Given the description of an element on the screen output the (x, y) to click on. 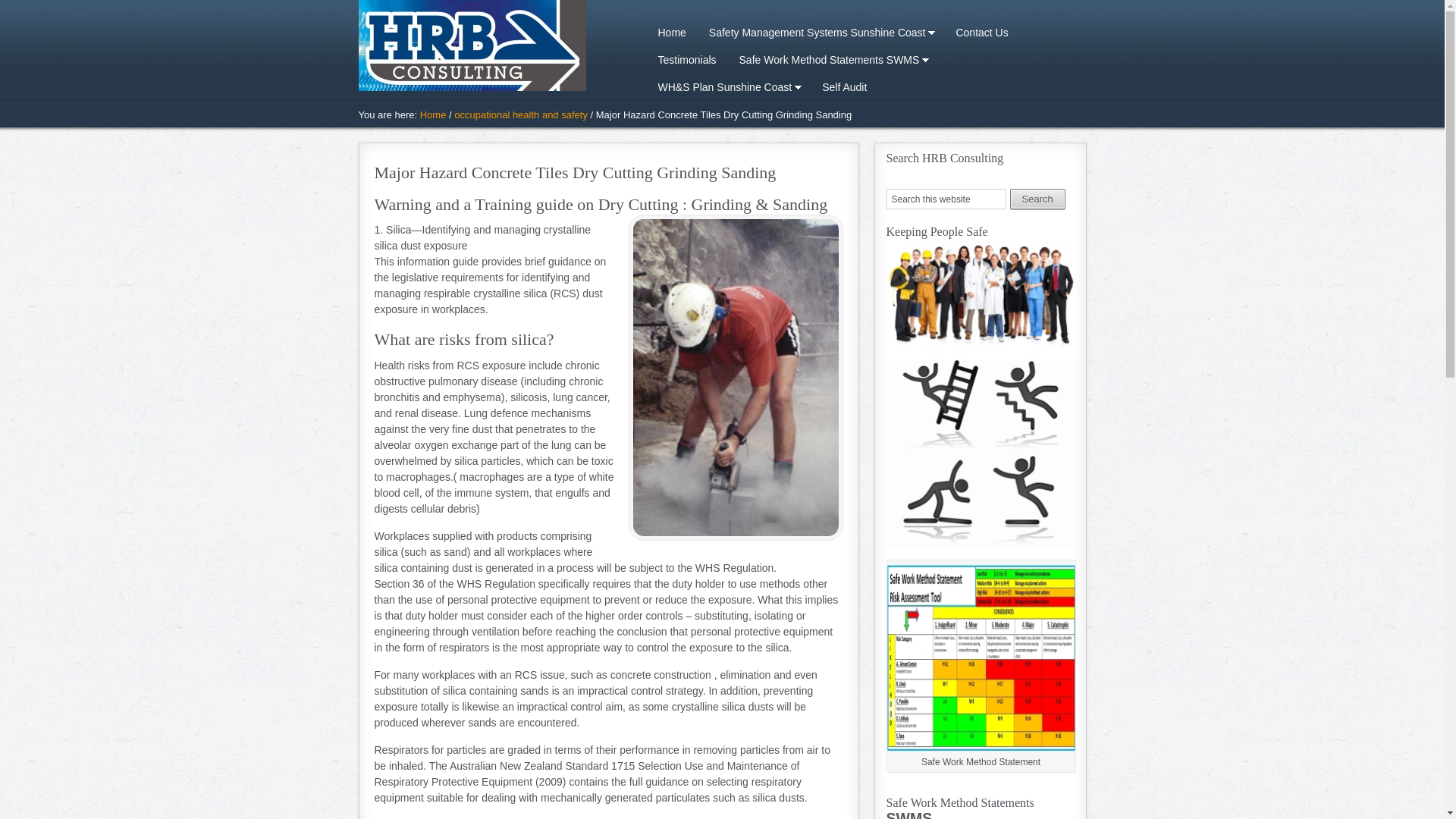
Search Element type: text (1037, 198)
Workplace Health Safety Advisory Element type: text (478, 45)
Safety Management Systems Sunshine Coast Element type: text (820, 32)
Testimonials Element type: text (686, 59)
occupational health and safety Element type: text (520, 114)
Safe Work Method Statements SWMS Element type: text (833, 59)
Contact Us Element type: text (981, 32)
Home Element type: text (671, 32)
Home Element type: text (433, 114)
WH&S Plan Sunshine Coast Element type: text (728, 86)
Self Audit Element type: text (844, 86)
